Given the description of an element on the screen output the (x, y) to click on. 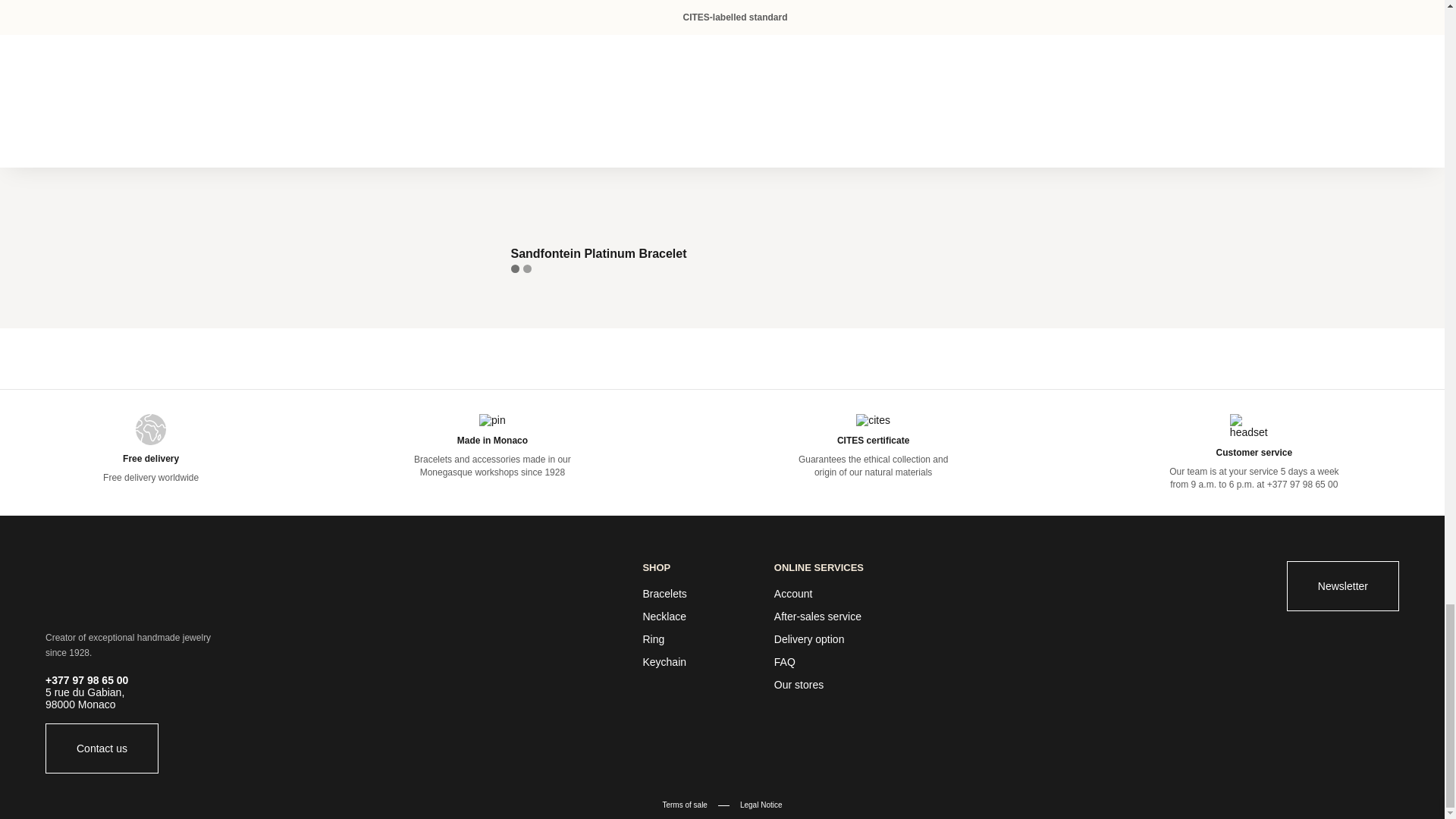
Albanu Wildlife Foundation (986, 746)
